Given the description of an element on the screen output the (x, y) to click on. 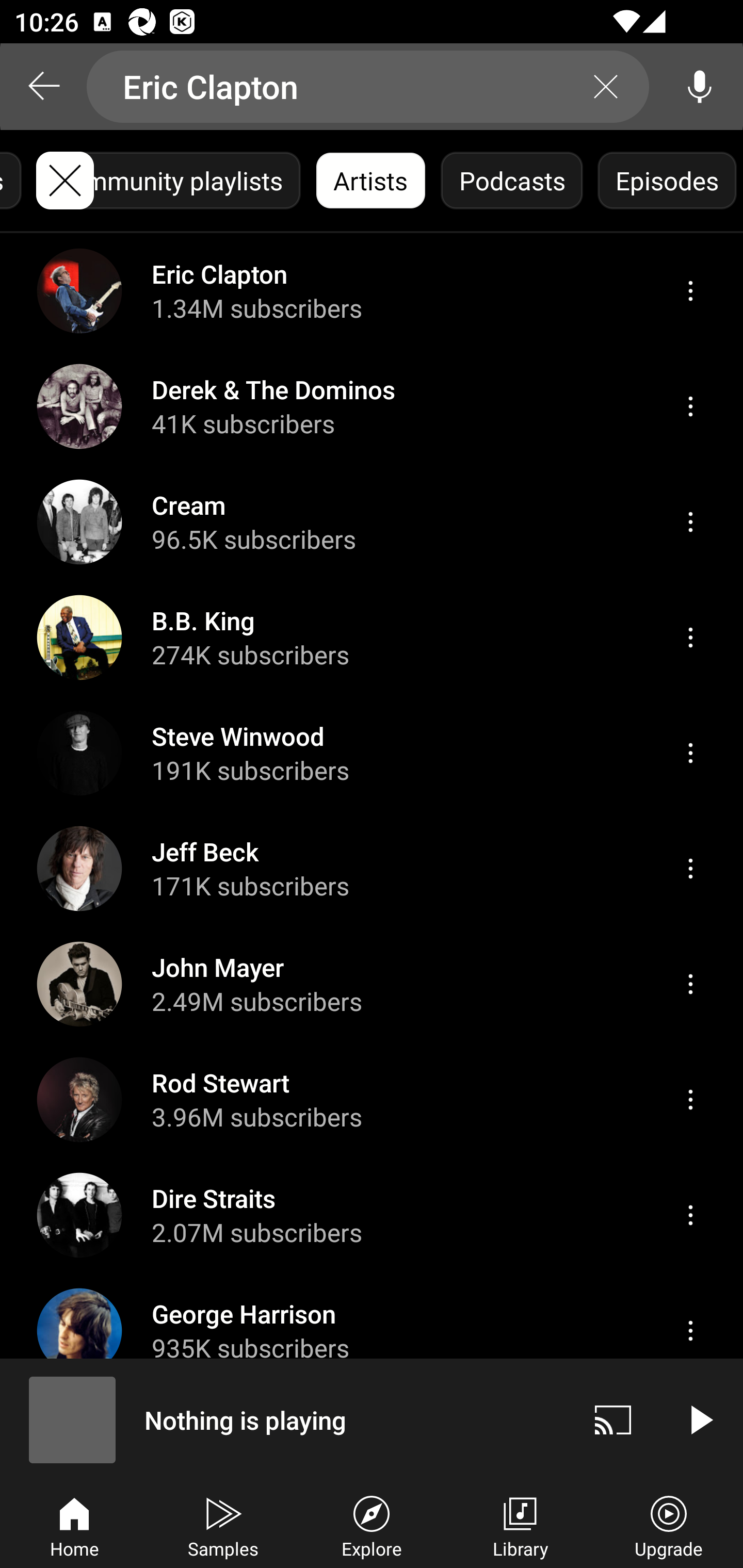
Search back (43, 86)
Eric Clapton (367, 86)
Clear search (605, 86)
Voice search (699, 86)
Clear filters (64, 181)
Artists (370, 181)
Podcasts (511, 181)
Episodes (667, 181)
Menu (690, 290)
Menu (690, 406)
Menu (690, 522)
Menu (690, 638)
Menu (690, 752)
Menu (690, 868)
Menu (690, 984)
Menu (690, 1099)
Menu (690, 1215)
Menu (690, 1331)
Nothing is playing (284, 1419)
Cast. Disconnected (612, 1419)
Play video (699, 1419)
Home (74, 1524)
Samples (222, 1524)
Explore (371, 1524)
Library (519, 1524)
Upgrade (668, 1524)
